Given the description of an element on the screen output the (x, y) to click on. 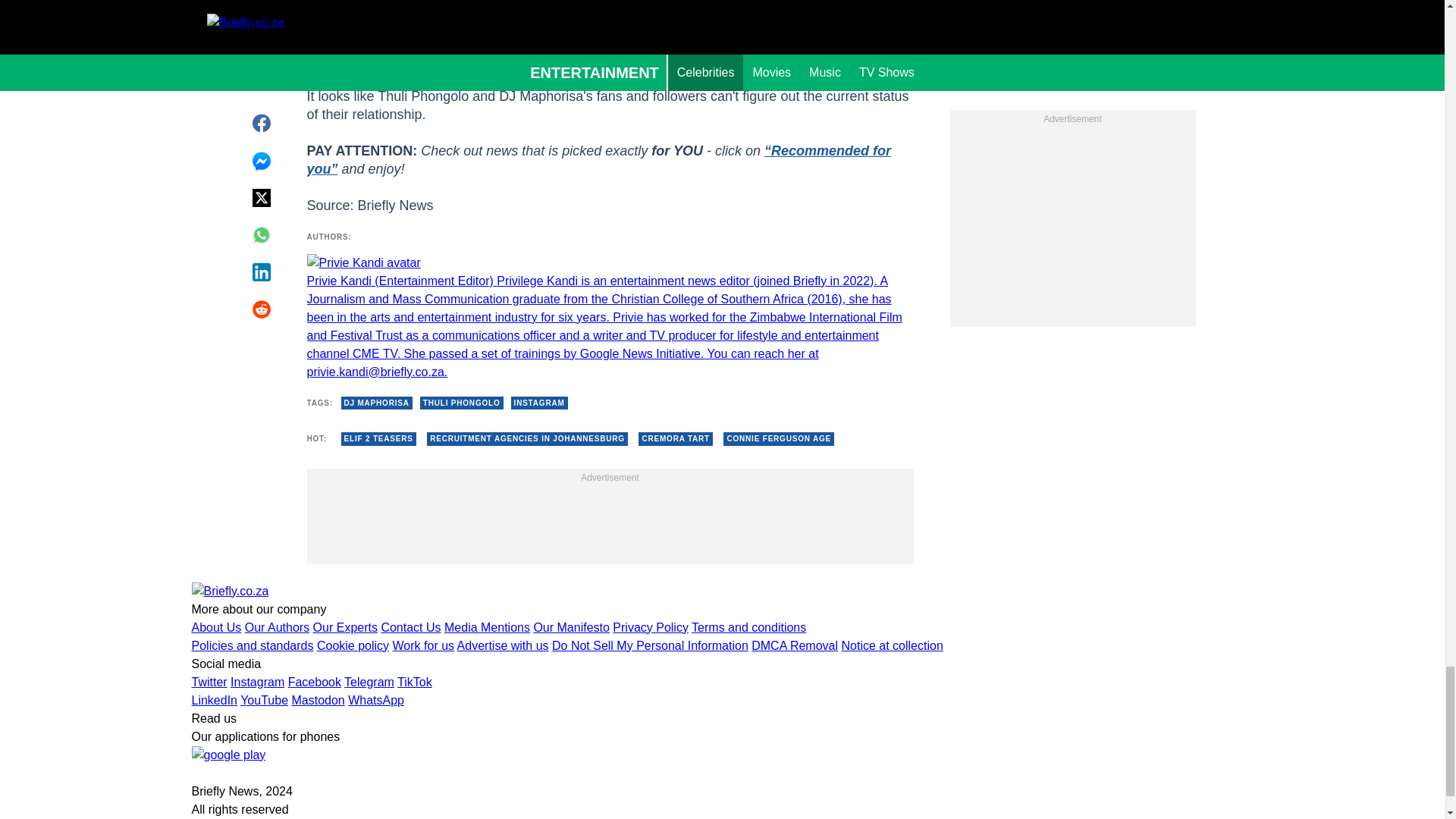
Author page (608, 317)
